Given the description of an element on the screen output the (x, y) to click on. 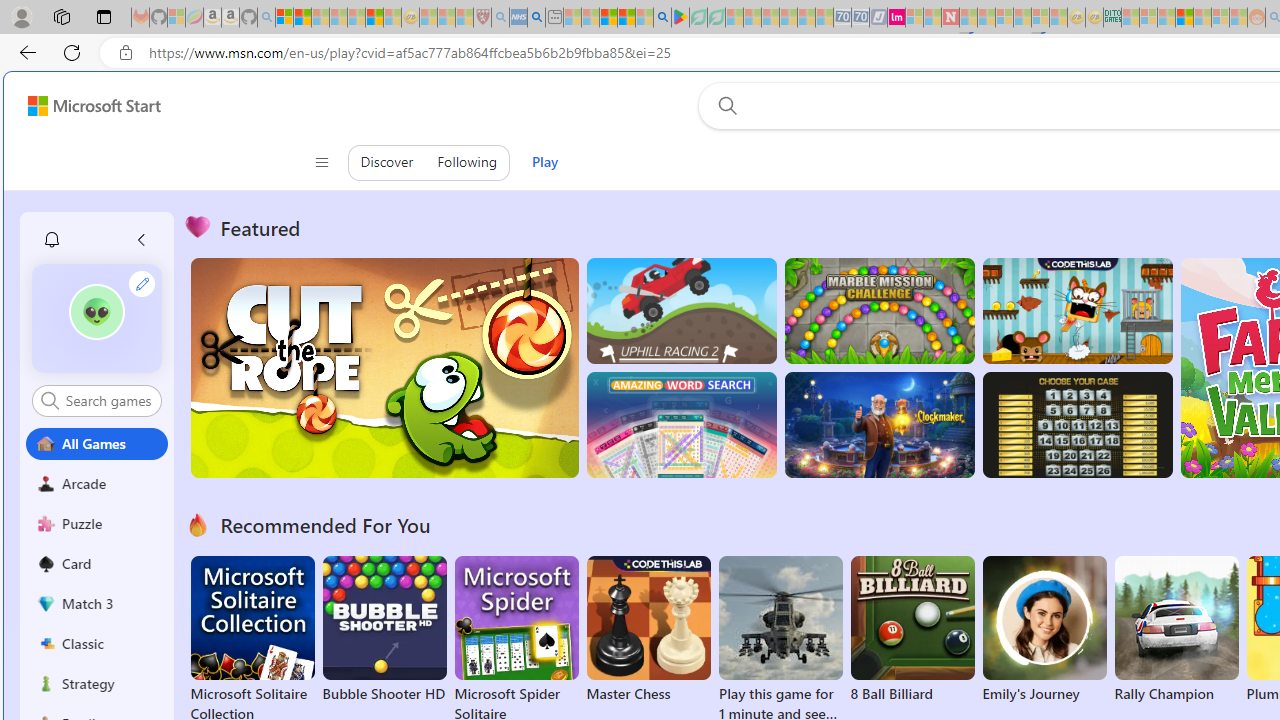
Emily's Journey (1044, 629)
""'s avatar (97, 318)
Play (544, 162)
Squicky (1076, 310)
Class: profile-edit (142, 283)
